Given the description of an element on the screen output the (x, y) to click on. 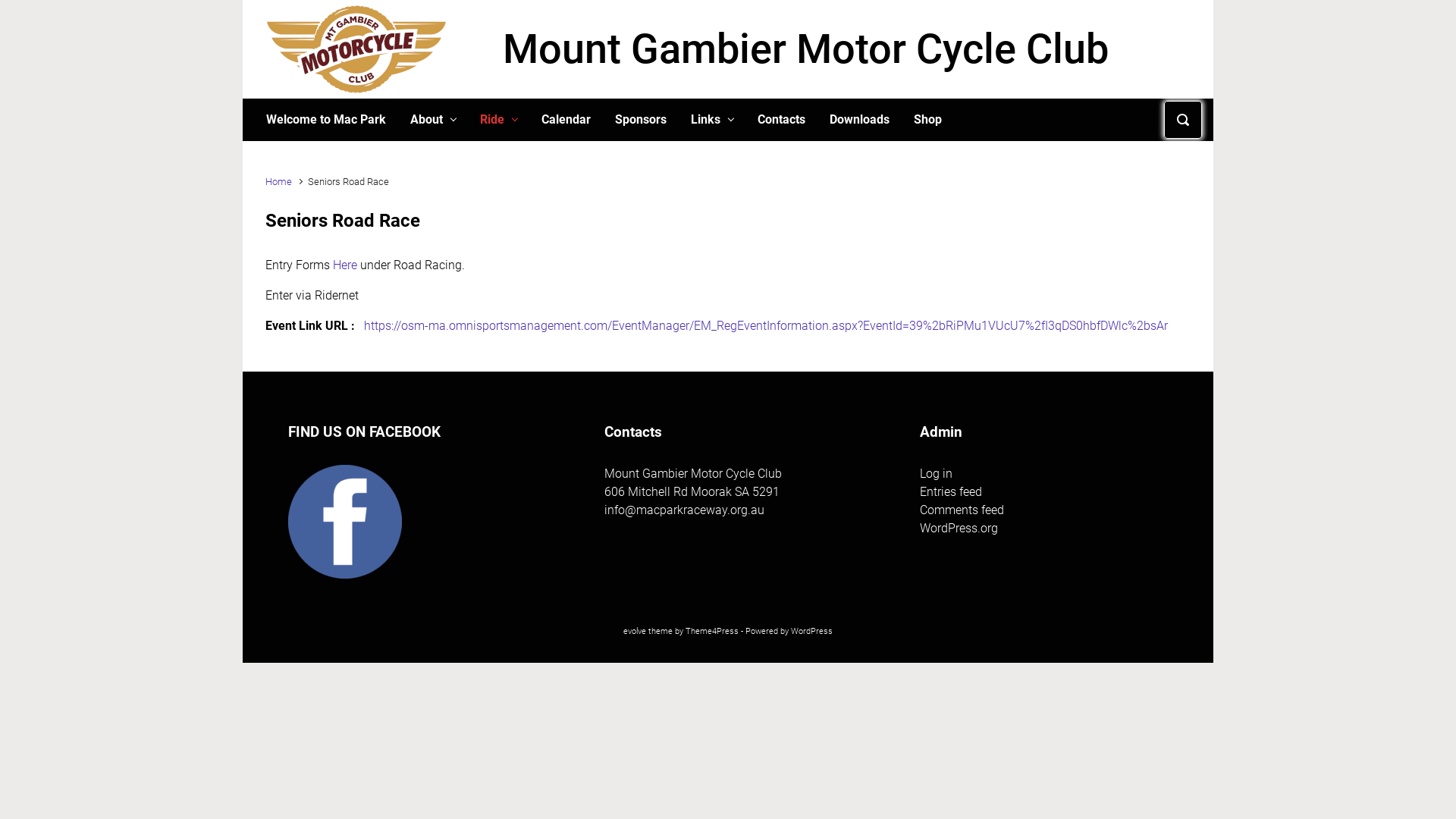
Home Element type: text (278, 181)
Mount Gambier Motor Cycle Club Element type: text (804, 48)
Calendar Element type: text (565, 119)
Links Element type: text (711, 119)
Ride Element type: text (498, 119)
Welcome to Mac Park Element type: text (326, 119)
Shop Element type: text (927, 119)
Comments feed Element type: text (961, 509)
Sponsors Element type: text (640, 119)
Entries feed Element type: text (950, 491)
WordPress Element type: text (811, 631)
Contacts Element type: text (781, 119)
Log in Element type: text (935, 473)
About Element type: text (432, 119)
WordPress.org Element type: text (958, 527)
Downloads Element type: text (859, 119)
Here Element type: text (343, 264)
evolve Element type: text (634, 631)
